Given the description of an element on the screen output the (x, y) to click on. 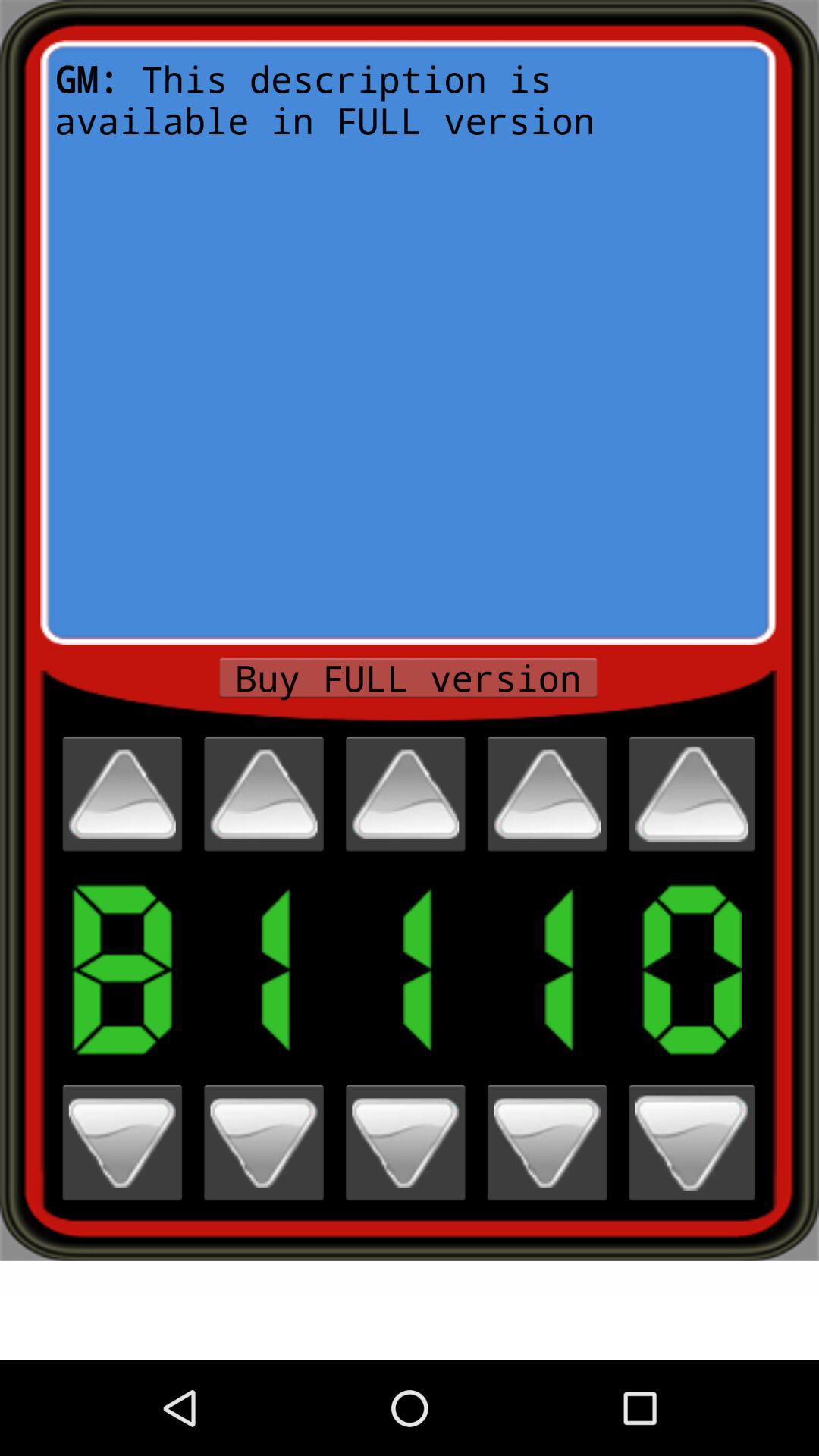
shows increase option (121, 794)
